Given the description of an element on the screen output the (x, y) to click on. 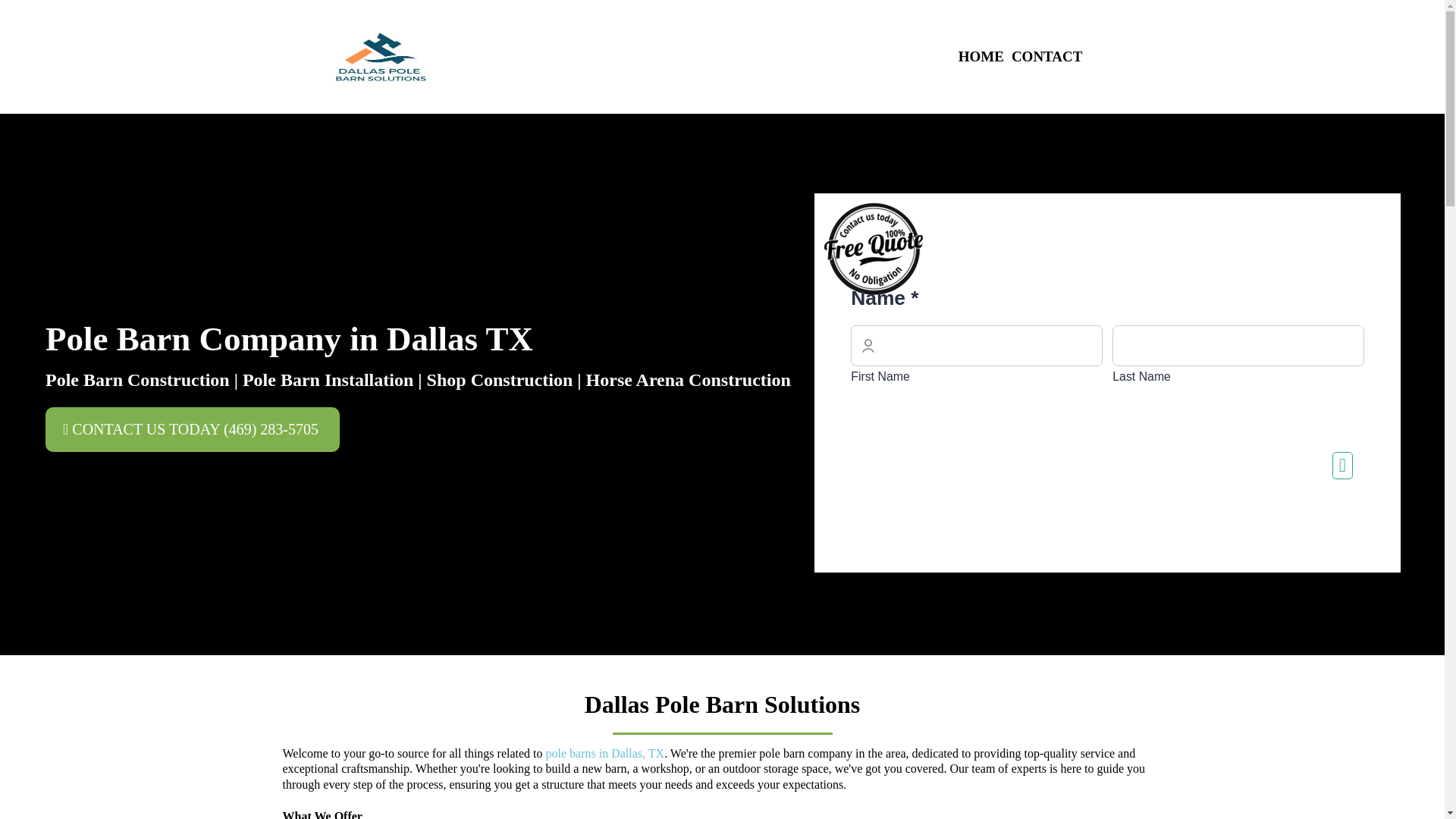
HOME (981, 56)
pole barns in Dallas, TX (605, 753)
CONTACT (1046, 56)
